Given the description of an element on the screen output the (x, y) to click on. 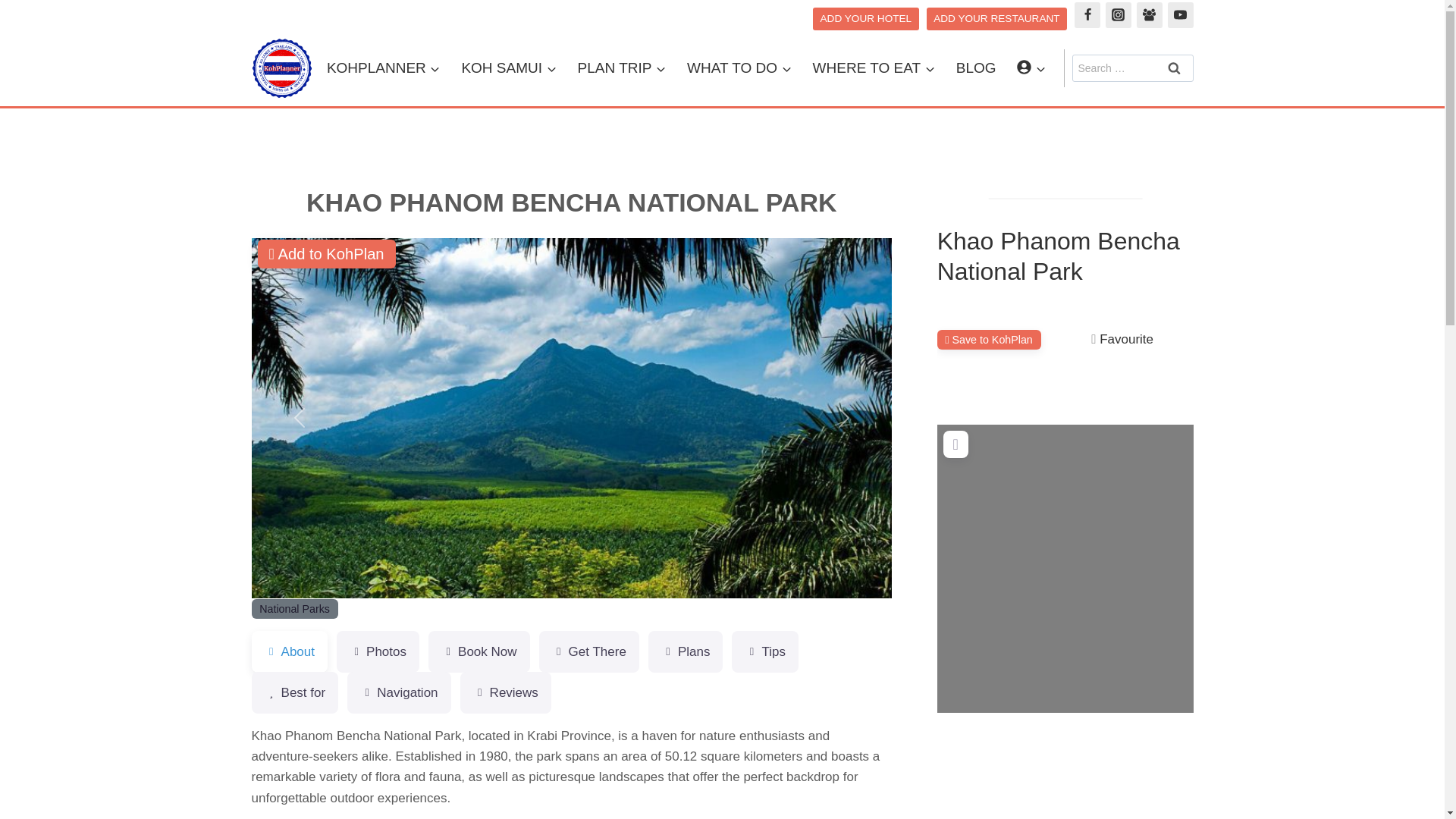
WHAT TO DO (739, 68)
Reviews (505, 692)
Search (1174, 67)
Get There (588, 651)
Book Now (478, 651)
Add to Favourites (1121, 339)
KOH SAMUI (508, 68)
About (290, 651)
ADD YOUR HOTEL (865, 18)
Navigation (398, 692)
